Given the description of an element on the screen output the (x, y) to click on. 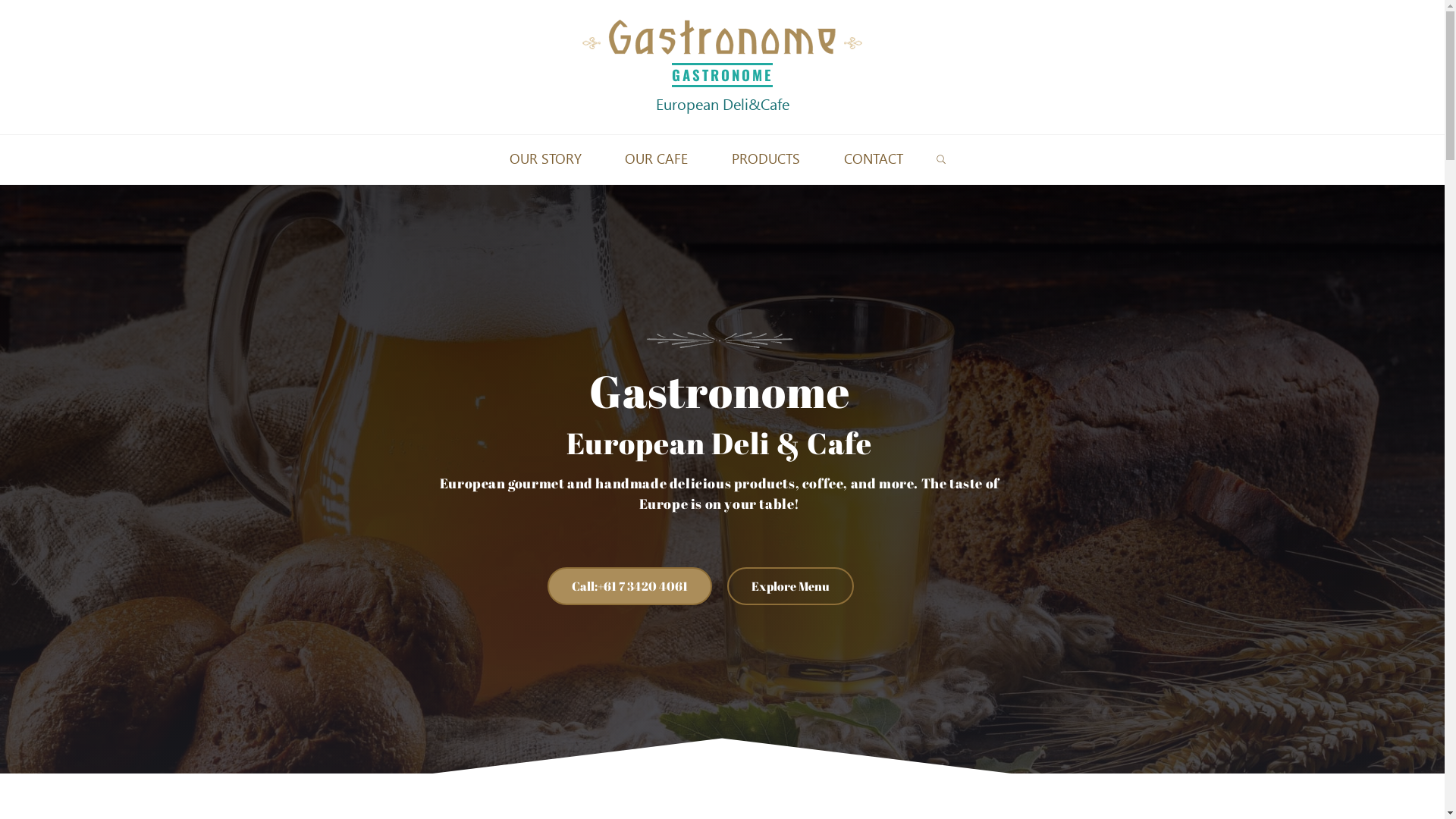
CONTACT Element type: text (873, 159)
Call:+61 7 3420 4061 Element type: text (629, 586)
Explore Menu Element type: text (790, 586)
OUR STORY Element type: text (545, 159)
PRODUCTS Element type: text (765, 159)
GASTRONOME Element type: text (721, 74)
OUR CAFE Element type: text (655, 159)
